Given the description of an element on the screen output the (x, y) to click on. 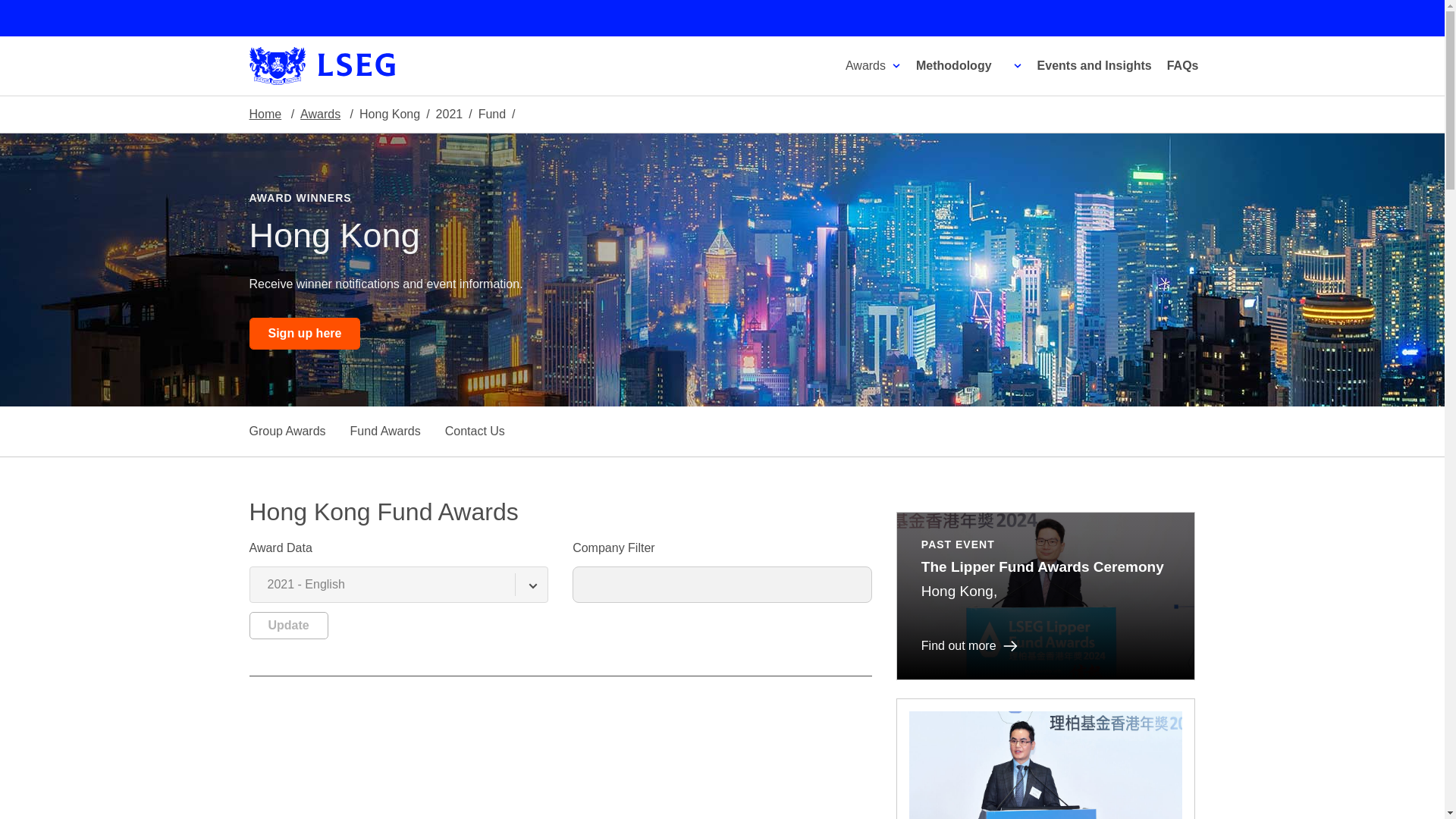
Awards (875, 65)
Sign up here (303, 333)
Home (264, 113)
Events and Insights (1095, 65)
Awards (319, 113)
Methodology (955, 65)
